Given the description of an element on the screen output the (x, y) to click on. 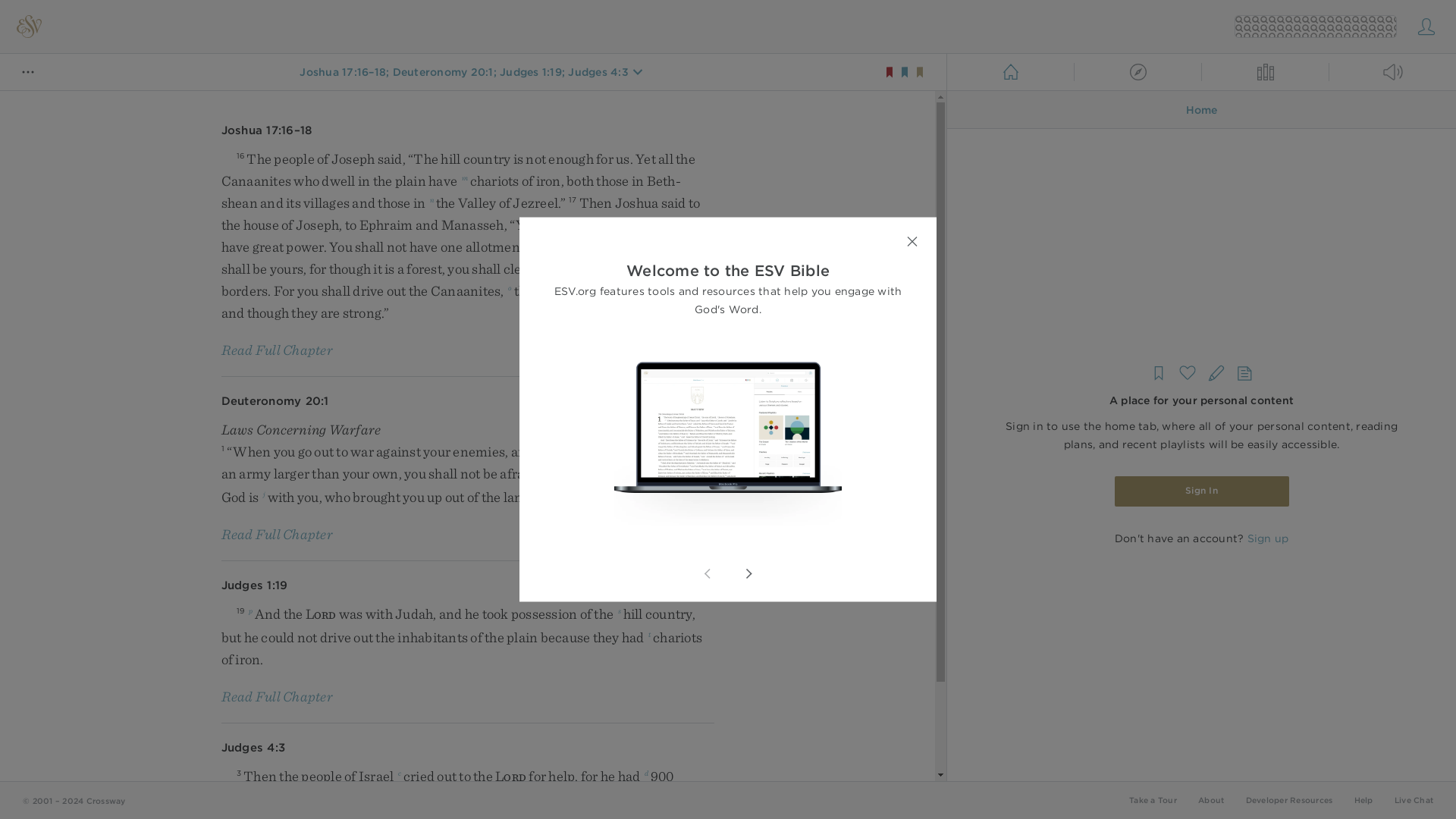
Read Full Chapter (277, 533)
Read Full Chapter (277, 695)
Take a Tour (1152, 800)
About (1211, 800)
Read Full Chapter (277, 349)
Sign In (1201, 490)
Help (1363, 800)
Sign up (1267, 538)
Live Chat (1413, 800)
Developer Resources (1288, 800)
